Given the description of an element on the screen output the (x, y) to click on. 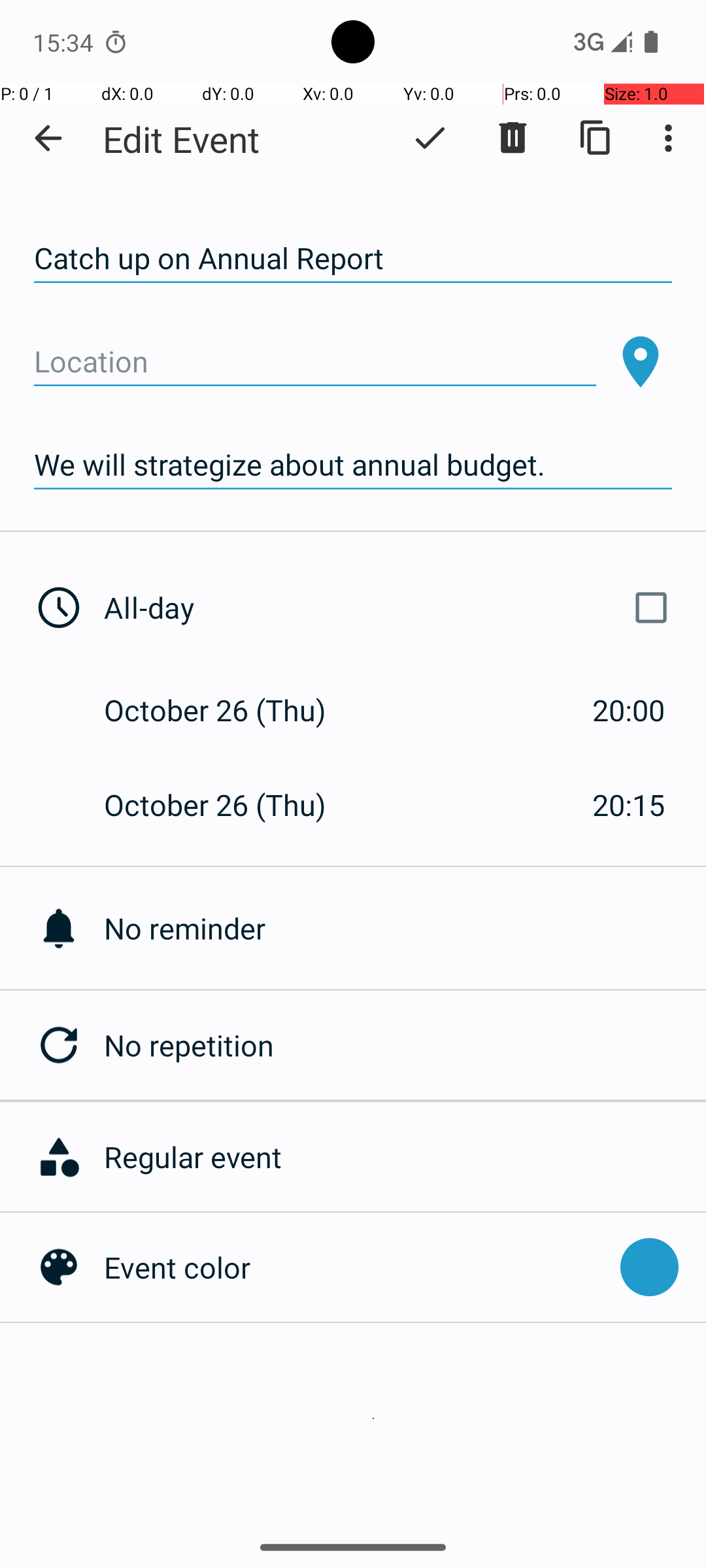
We will strategize about annual budget. Element type: android.widget.EditText (352, 465)
October 26 (Thu) Element type: android.widget.TextView (228, 709)
20:15 Element type: android.widget.TextView (628, 804)
